Given the description of an element on the screen output the (x, y) to click on. 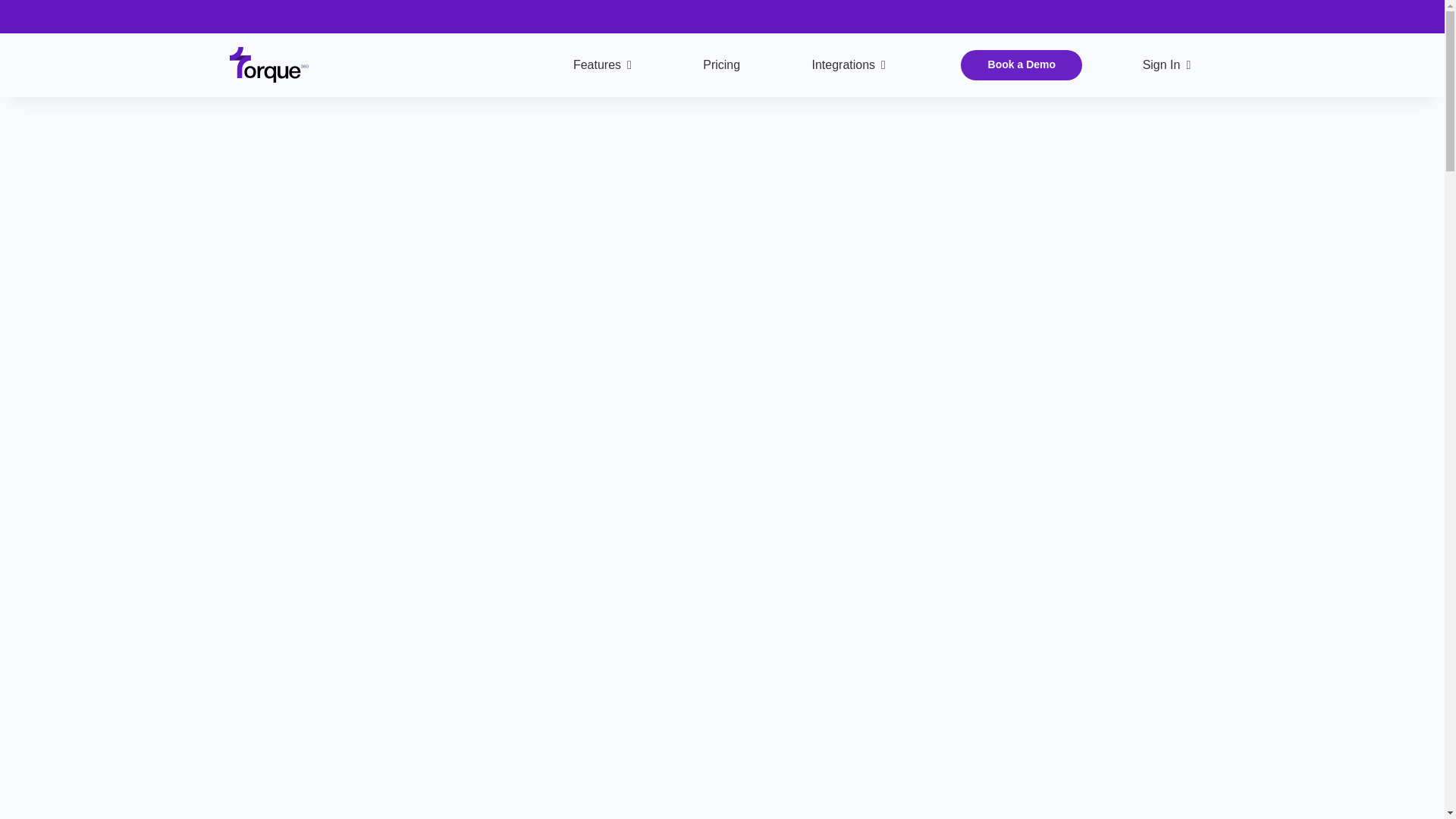
Features (602, 64)
Integrations (848, 64)
Pricing (721, 64)
